Given the description of an element on the screen output the (x, y) to click on. 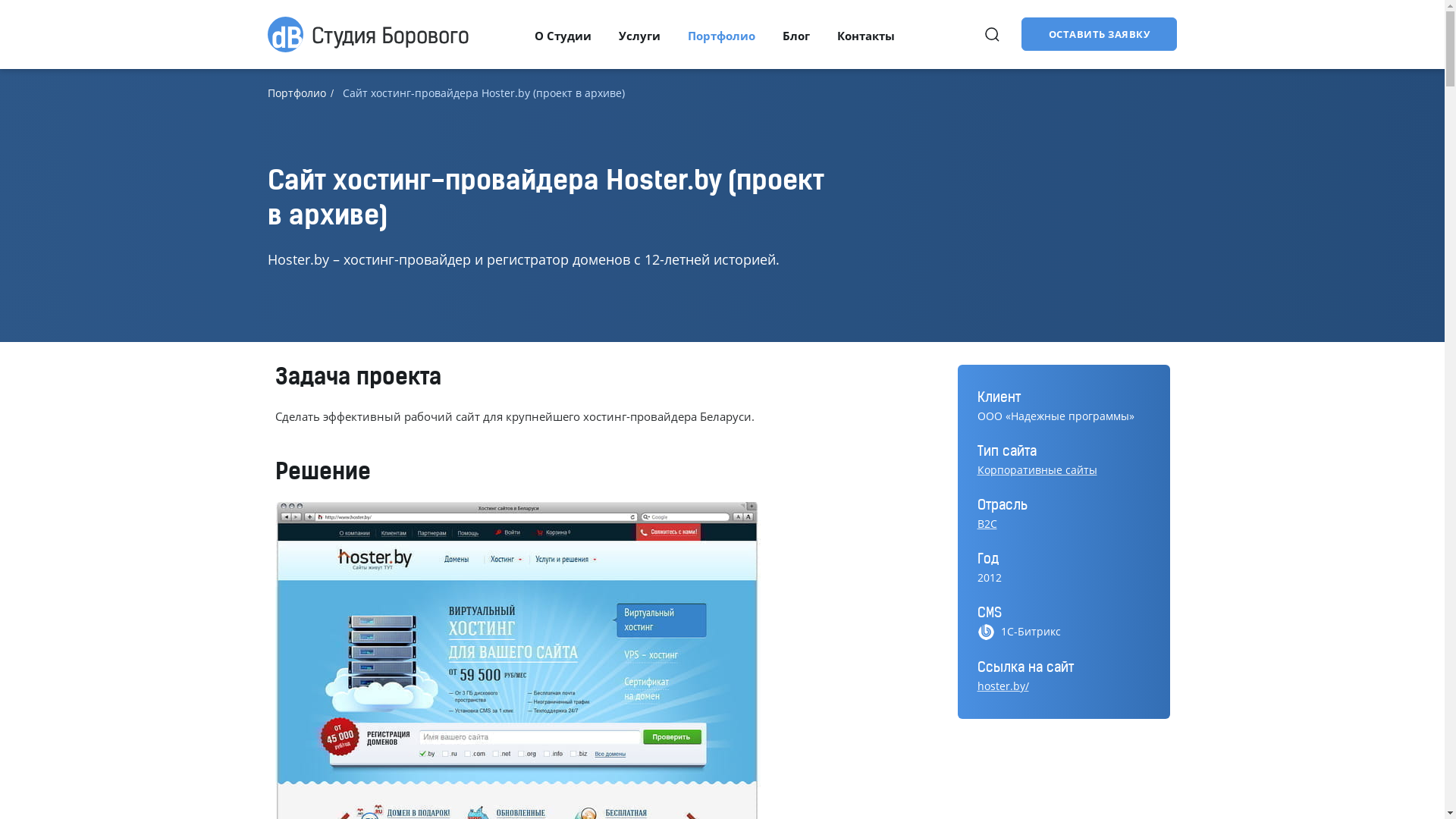
B2C Element type: text (1062, 523)
hoster.by/ Element type: text (1062, 685)
